Given the description of an element on the screen output the (x, y) to click on. 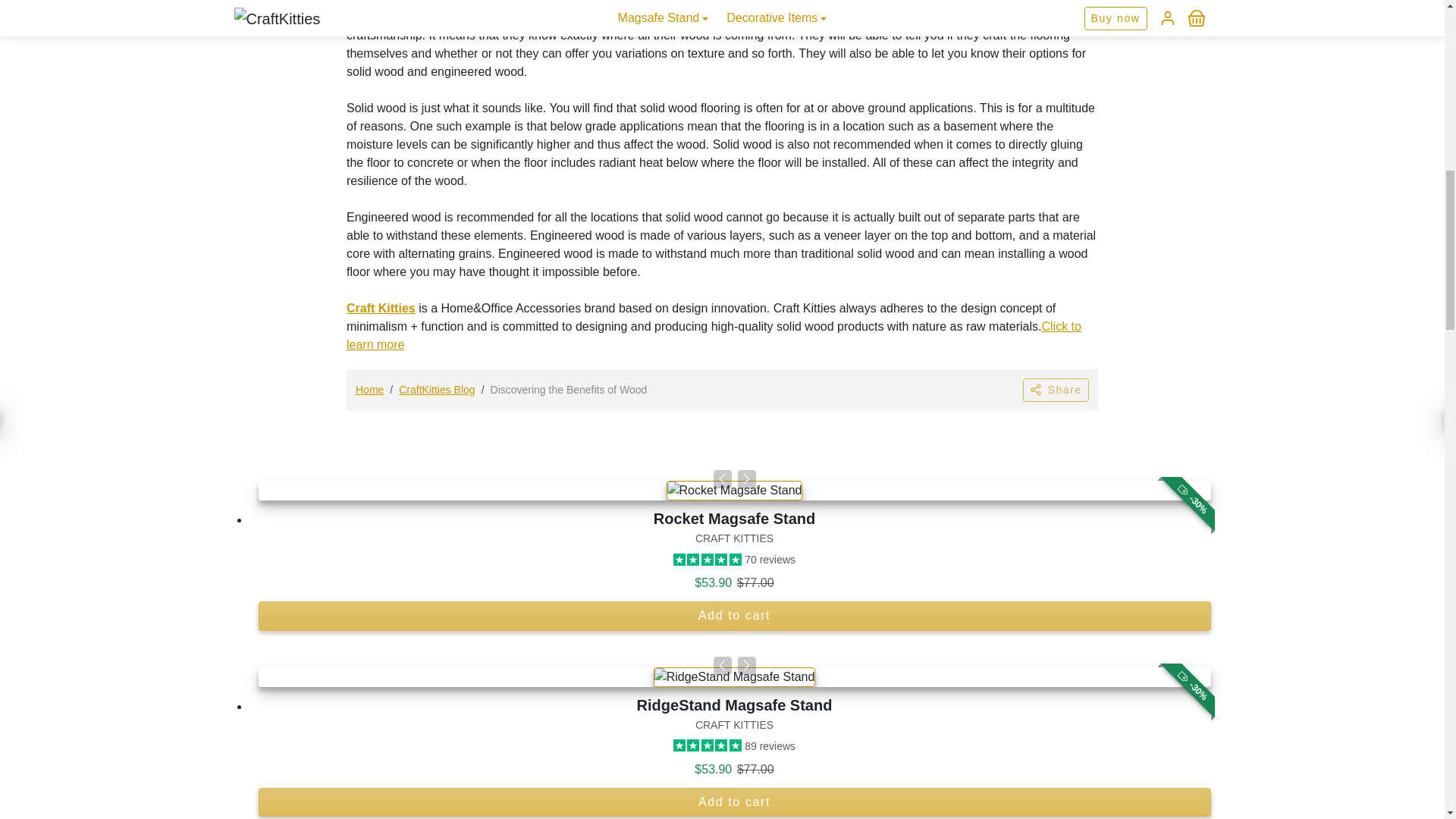
craft kitties (380, 308)
craft kitties (713, 335)
